Given the description of an element on the screen output the (x, y) to click on. 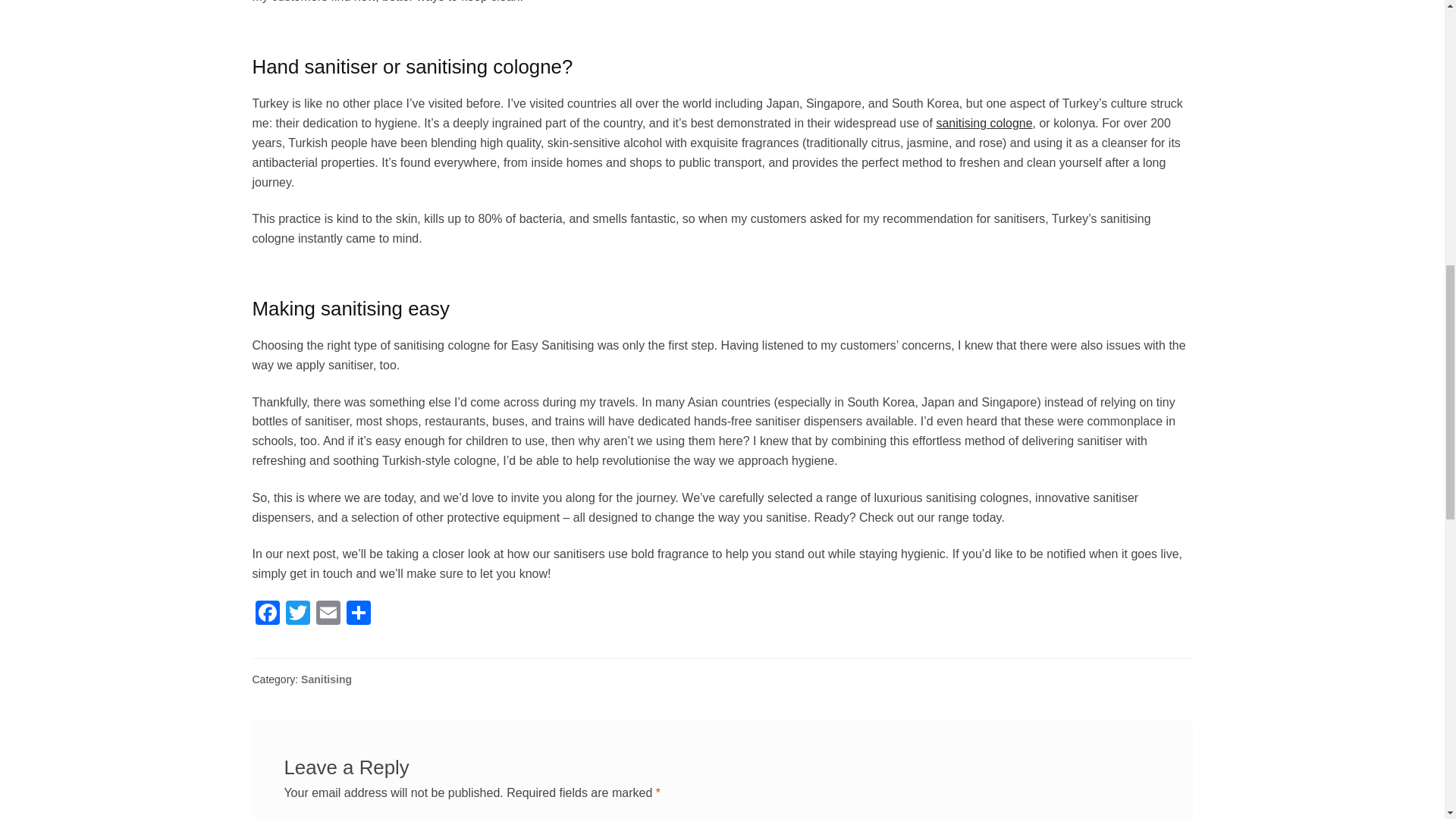
Twitter (297, 614)
Twitter (297, 614)
Email (327, 614)
Facebook (266, 614)
Sanitising (326, 679)
Email (327, 614)
sanitising cologne (984, 123)
Facebook (266, 614)
Share (357, 614)
